Given the description of an element on the screen output the (x, y) to click on. 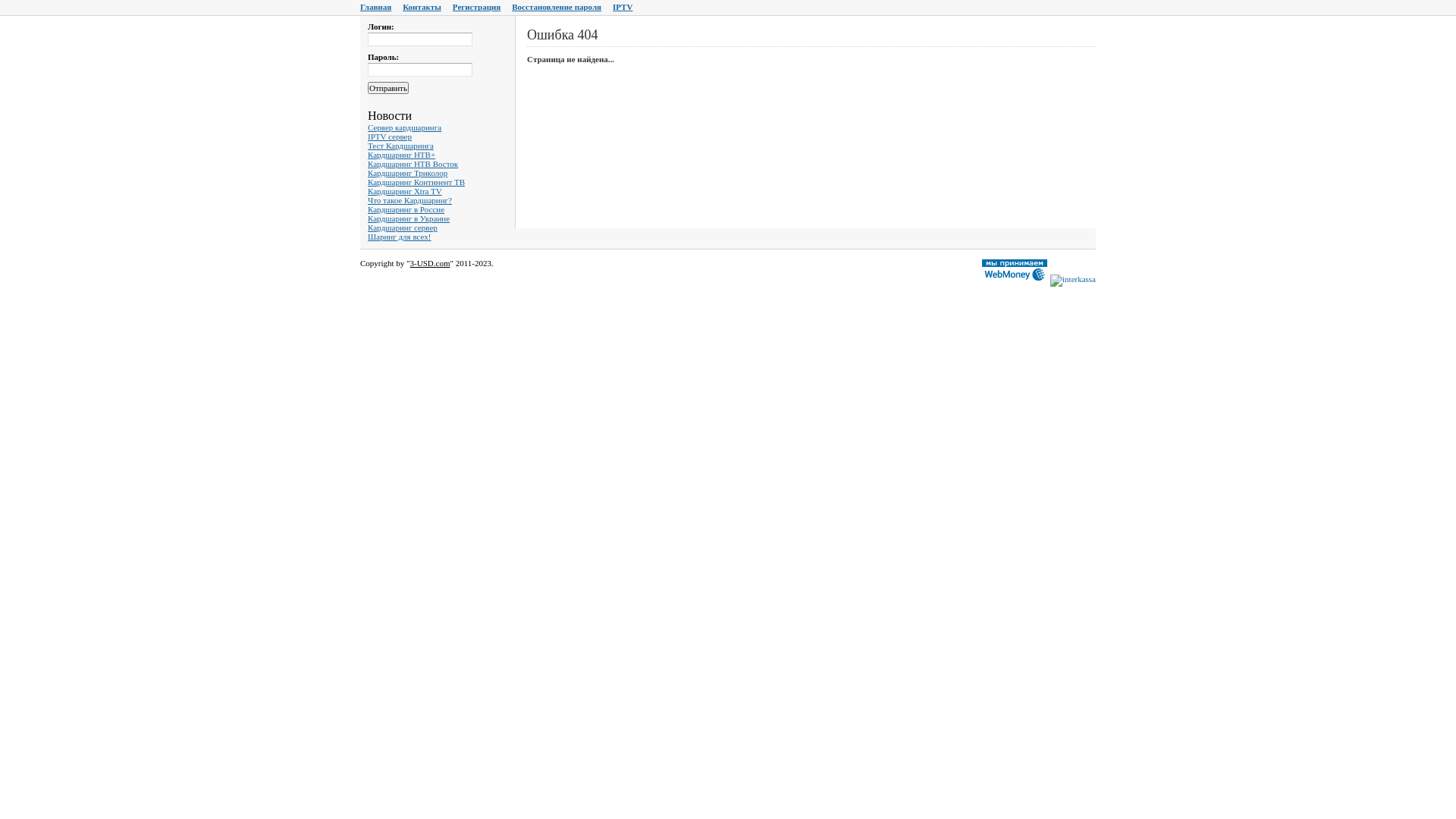
IPTV Element type: text (622, 6)
3-USD.com Element type: text (430, 262)
